Given the description of an element on the screen output the (x, y) to click on. 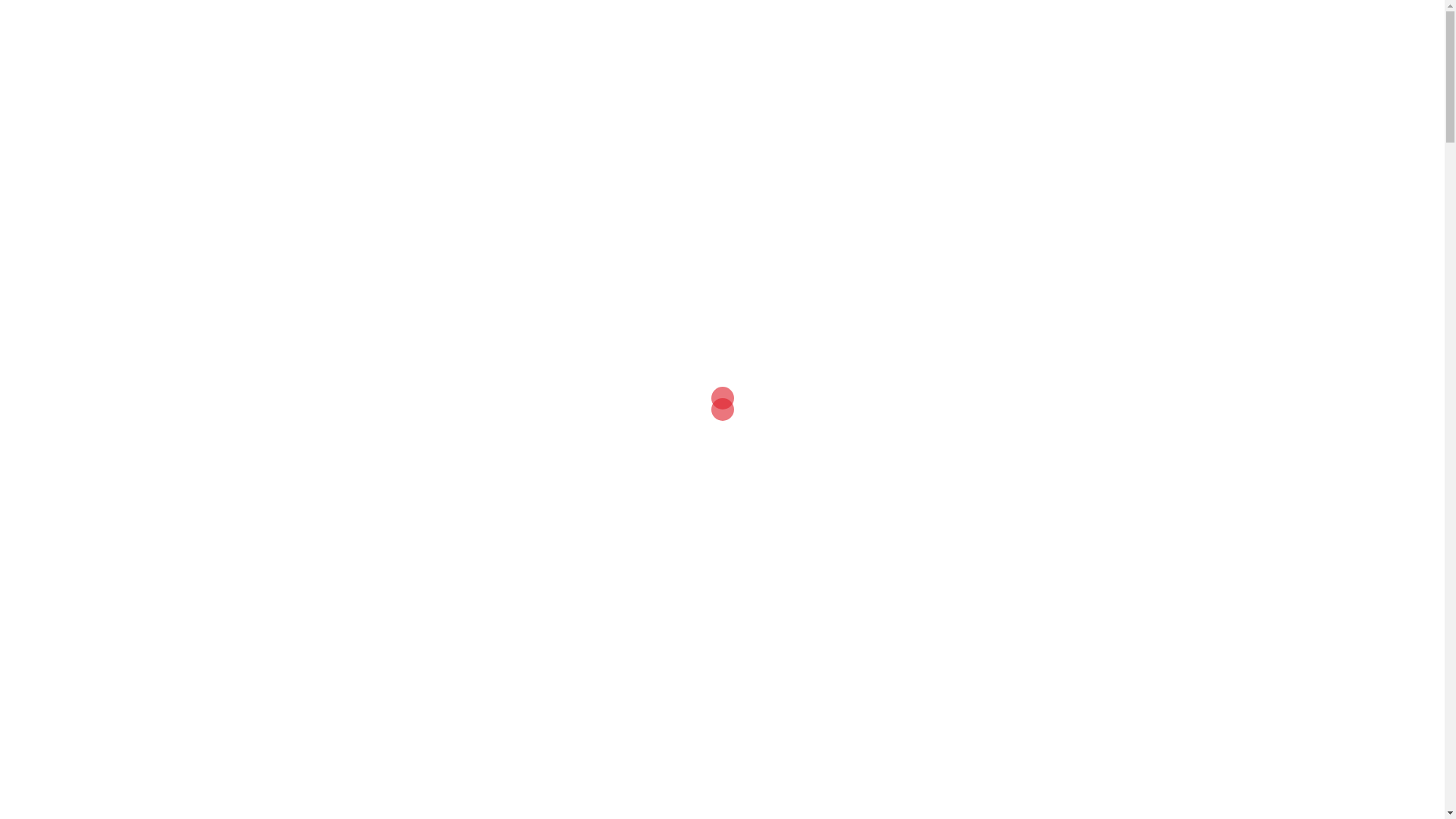
Internet Safety For Toddlers Element type: text (721, 795)
Instagram Element type: text (1111, 22)
About Us Element type: text (575, 41)
Covid-19 Safe Halloween Element type: text (423, 445)
Banana Ghosts Element type: text (721, 445)
Contact Element type: text (1097, 41)
Ice Painting Element type: text (1020, 422)
hey dee ho Presents Element type: text (895, 41)
Parties & Concerts Element type: text (778, 41)
Hey Dee Ho Element type: hover (221, 41)
Enrol Element type: text (697, 41)
Youtube Element type: text (1082, 22)
Spotify Element type: text (1141, 22)
Shop Element type: text (1041, 41)
Classes Element type: text (641, 41)
Facebook Element type: text (1054, 22)
Join Us Element type: text (985, 41)
